Given the description of an element on the screen output the (x, y) to click on. 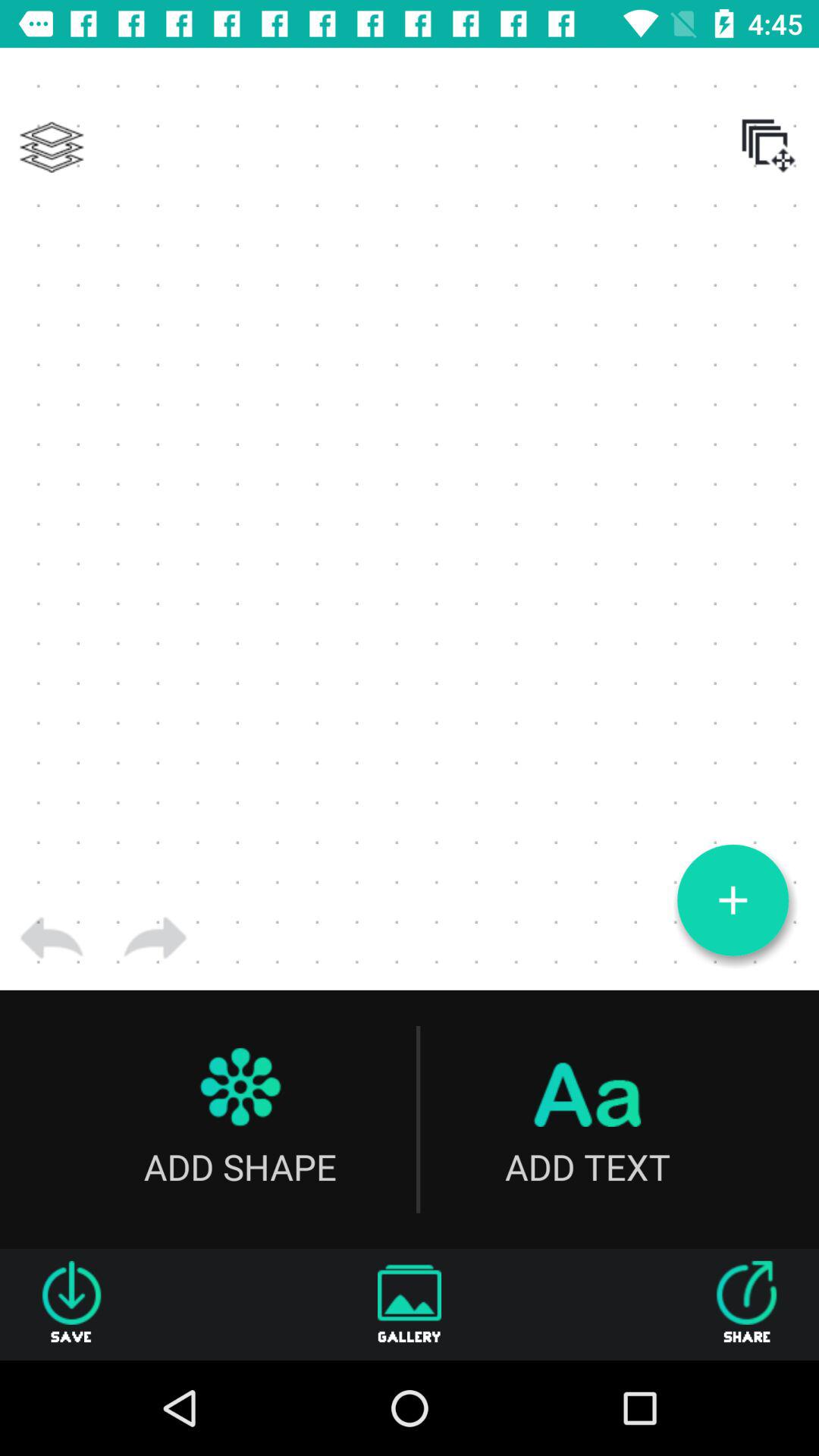
swipe to the add shape (239, 1119)
